Given the description of an element on the screen output the (x, y) to click on. 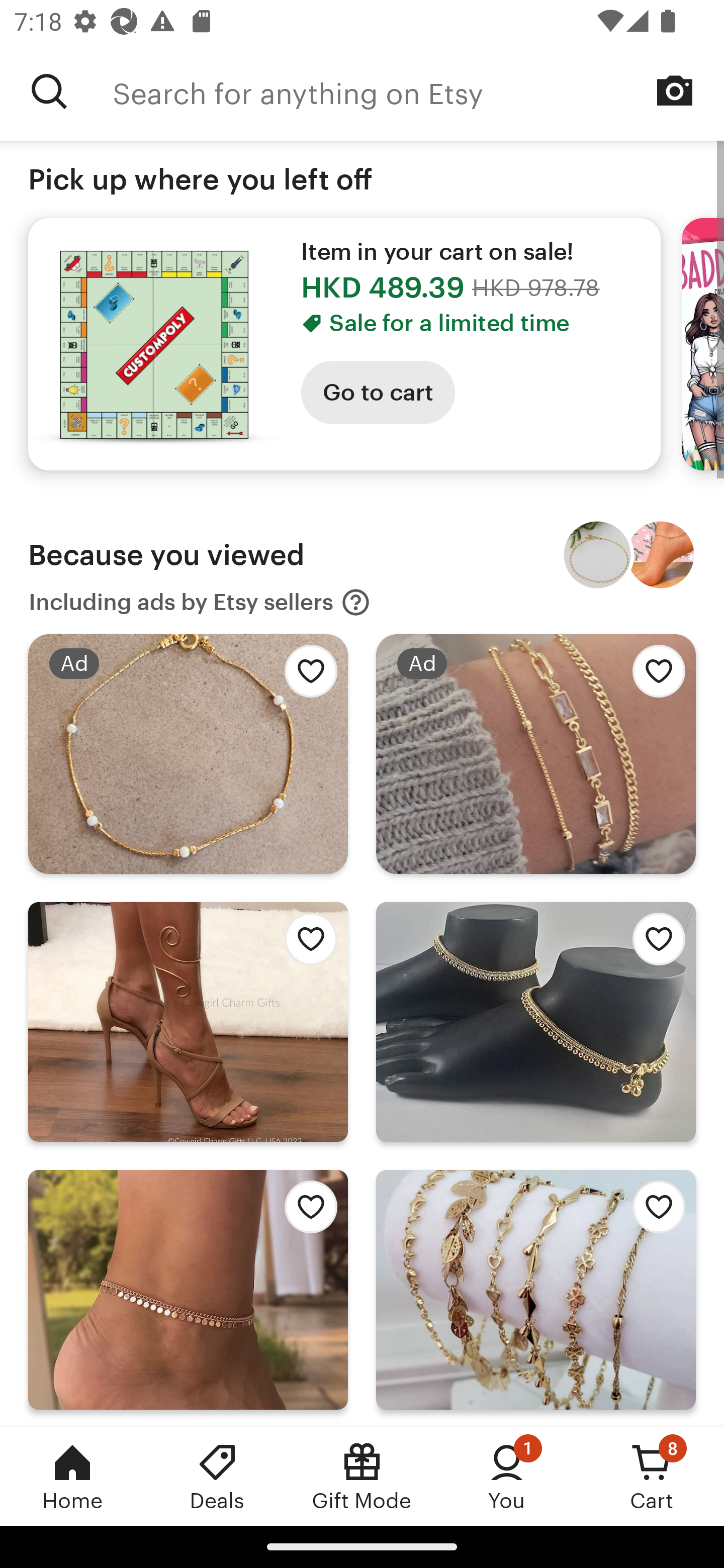
Search for anything on Etsy (49, 91)
Search by image (674, 90)
Search for anything on Etsy (418, 91)
Including ads by Etsy sellers (199, 601)
Deals (216, 1475)
Gift Mode (361, 1475)
You, 1 new notification You (506, 1475)
Cart, 8 new notifications Cart (651, 1475)
